Given the description of an element on the screen output the (x, y) to click on. 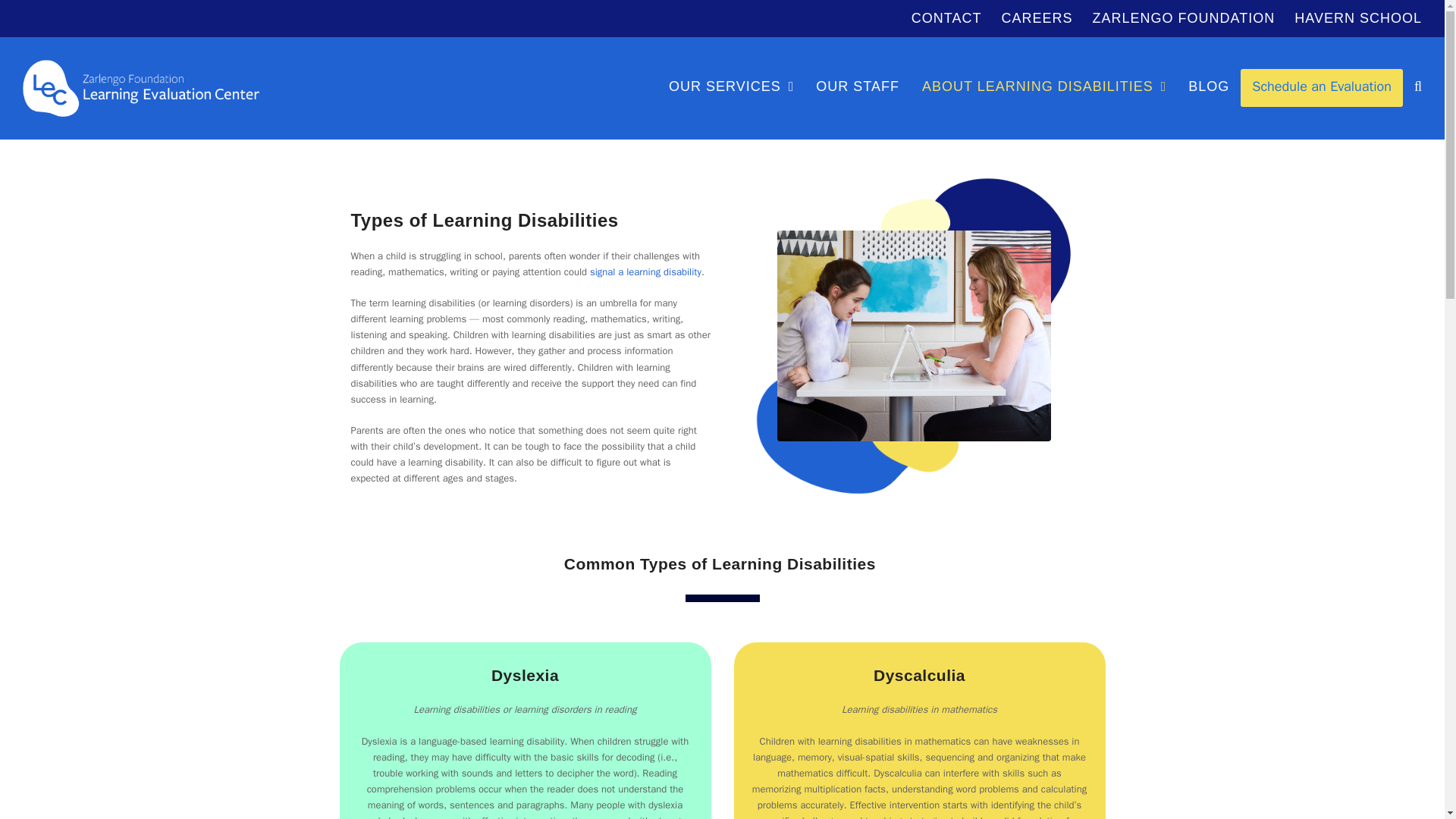
ZARLENGO FOUNDATION (1184, 17)
BLOG (1208, 87)
Schedule an Evaluation (1321, 87)
Signs of a Learning Disability (645, 271)
signal a learning disability (645, 271)
HAVERN SCHOOL (1358, 17)
OUR SERVICES (731, 87)
ABOUT LEARNING DISABILITIES (1043, 87)
OUR STAFF (858, 87)
CAREERS (1037, 17)
CONTACT (946, 17)
